Given the description of an element on the screen output the (x, y) to click on. 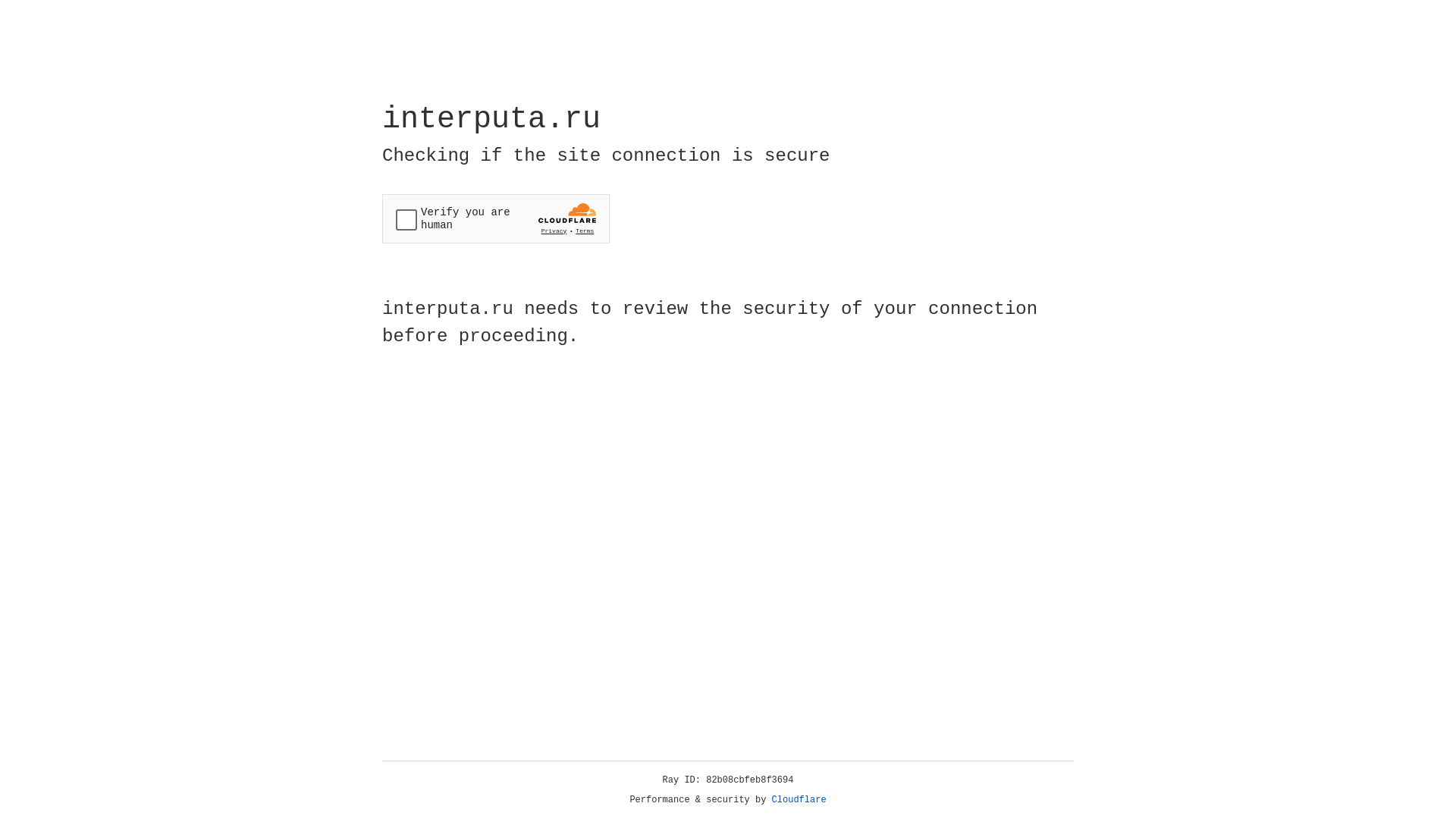
Widget containing a Cloudflare security challenge Element type: hover (495, 218)
Cloudflare Element type: text (798, 799)
